Given the description of an element on the screen output the (x, y) to click on. 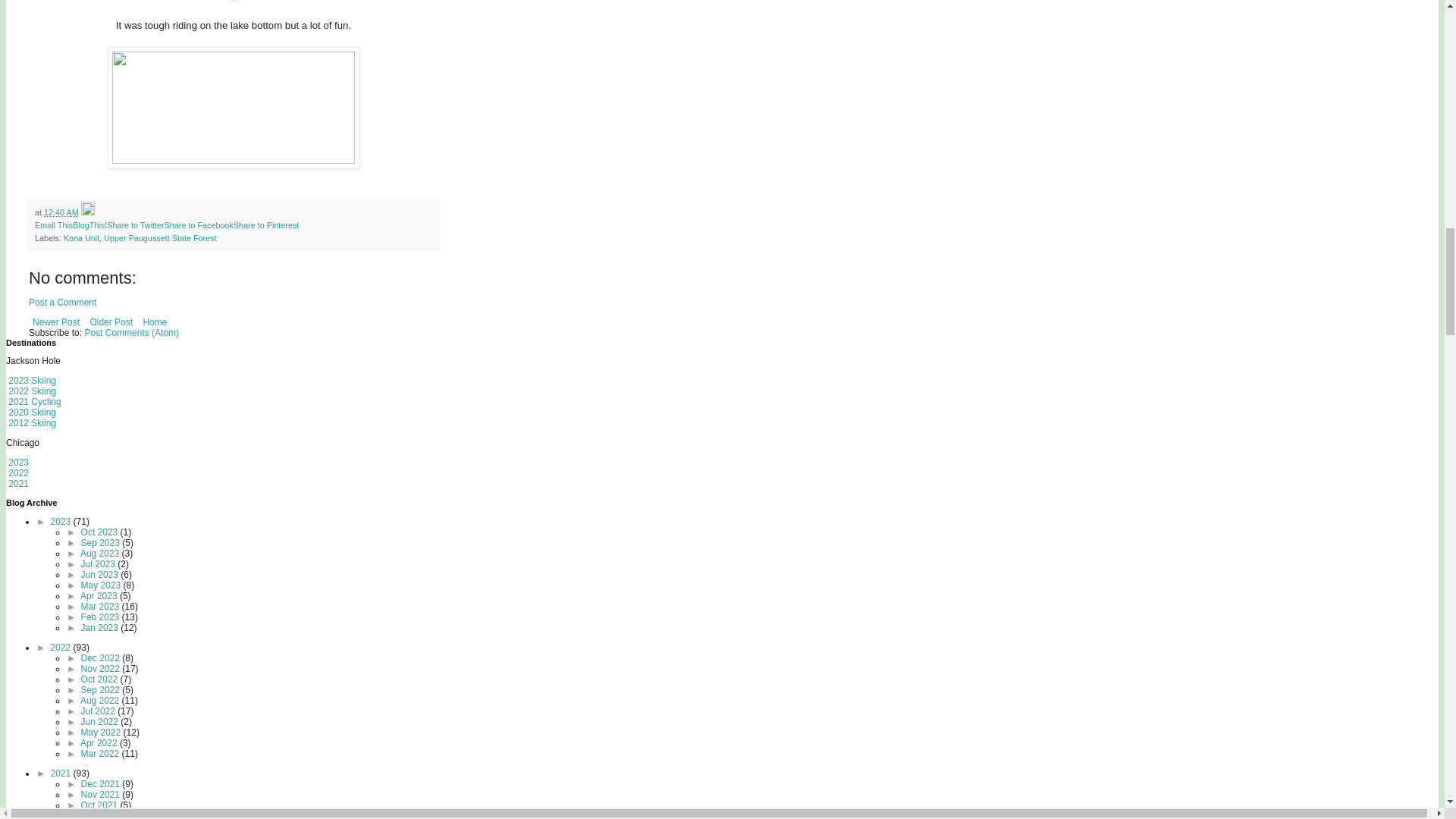
12:40 AM (60, 212)
Share to Pinterest (265, 225)
Older Post (110, 321)
Share to Twitter (134, 225)
Email This (53, 225)
BlogThis! (89, 225)
Share to Twitter (134, 225)
Newer Post (55, 321)
Newer Post (55, 321)
Post a Comment (62, 302)
Kona Unit (81, 237)
permanent link (60, 212)
 2021 Cycling (33, 401)
Older Post (110, 321)
Share to Pinterest (265, 225)
